Given the description of an element on the screen output the (x, y) to click on. 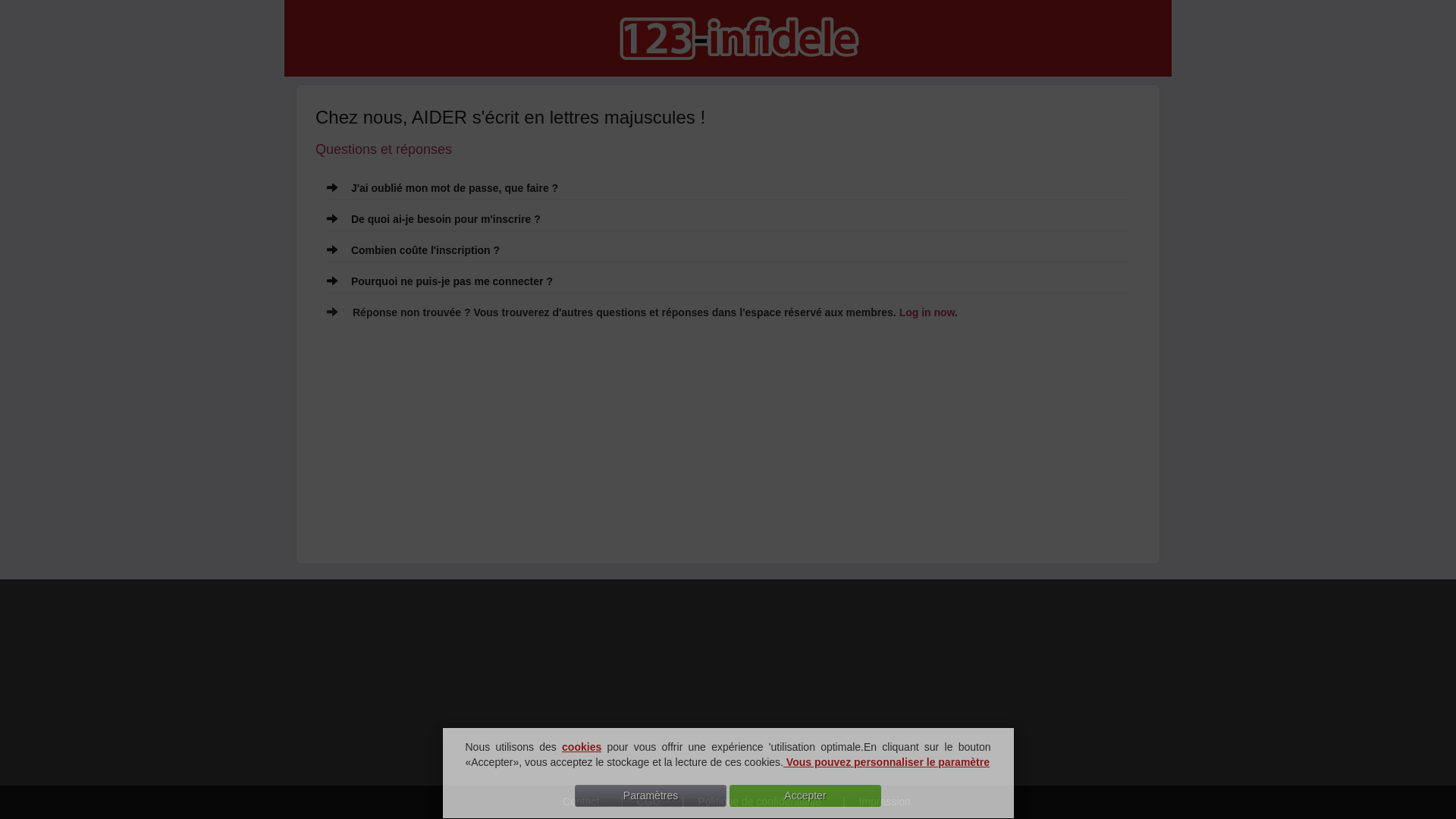
cookies Element type: text (581, 746)
CGU Element type: text (634, 801)
Impression Element type: text (870, 801)
Log in now Element type: text (926, 312)
Contact Element type: text (570, 801)
